Given the description of an element on the screen output the (x, y) to click on. 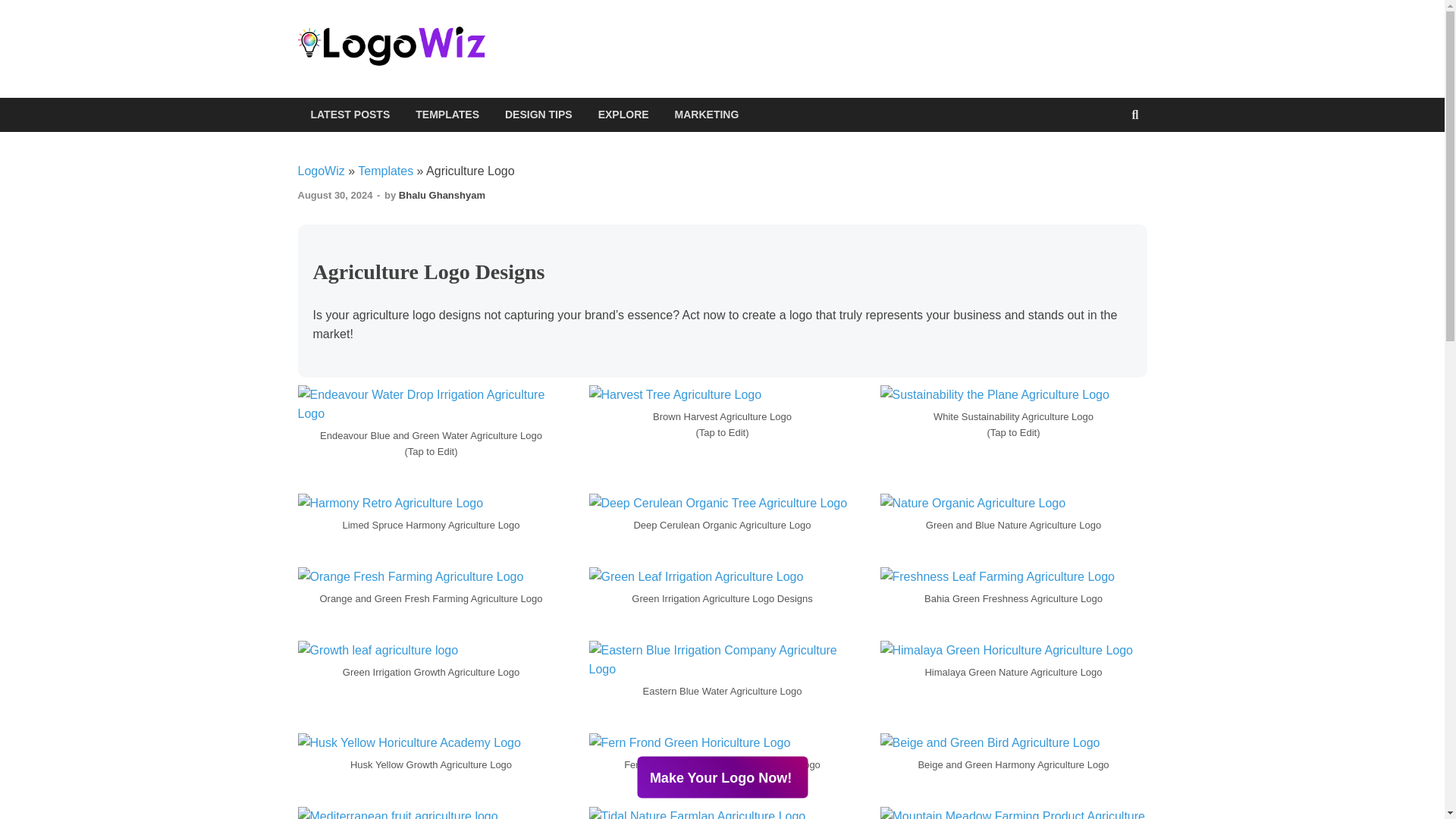
LogoWiz (320, 170)
August 30, 2024 (334, 194)
LATEST POSTS (350, 114)
Templates (385, 170)
MARKETING (707, 114)
TEMPLATES (447, 114)
DESIGN TIPS (538, 114)
EXPLORE (623, 114)
Bhalu Ghanshyam (441, 194)
